Given the description of an element on the screen output the (x, y) to click on. 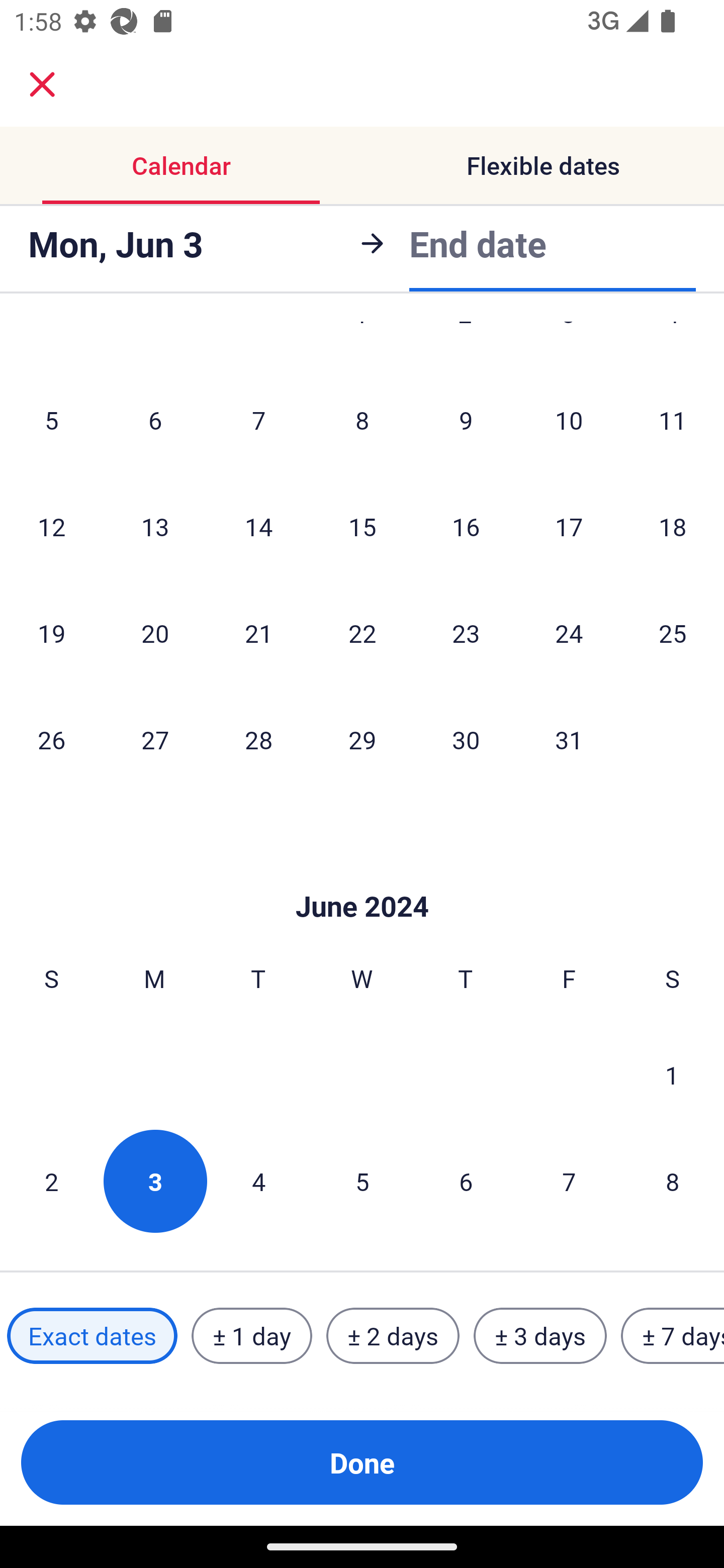
close. (42, 84)
Flexible dates (542, 164)
End date (477, 240)
5 Sunday, May 5, 2024 (51, 419)
6 Monday, May 6, 2024 (155, 419)
7 Tuesday, May 7, 2024 (258, 419)
8 Wednesday, May 8, 2024 (362, 419)
9 Thursday, May 9, 2024 (465, 419)
10 Friday, May 10, 2024 (569, 419)
11 Saturday, May 11, 2024 (672, 419)
12 Sunday, May 12, 2024 (51, 526)
13 Monday, May 13, 2024 (155, 526)
14 Tuesday, May 14, 2024 (258, 526)
15 Wednesday, May 15, 2024 (362, 526)
16 Thursday, May 16, 2024 (465, 526)
17 Friday, May 17, 2024 (569, 526)
18 Saturday, May 18, 2024 (672, 526)
19 Sunday, May 19, 2024 (51, 633)
20 Monday, May 20, 2024 (155, 633)
21 Tuesday, May 21, 2024 (258, 633)
22 Wednesday, May 22, 2024 (362, 633)
23 Thursday, May 23, 2024 (465, 633)
24 Friday, May 24, 2024 (569, 633)
25 Saturday, May 25, 2024 (672, 633)
26 Sunday, May 26, 2024 (51, 739)
27 Monday, May 27, 2024 (155, 739)
28 Tuesday, May 28, 2024 (258, 739)
29 Wednesday, May 29, 2024 (362, 739)
30 Thursday, May 30, 2024 (465, 739)
31 Friday, May 31, 2024 (569, 739)
Skip to Done (362, 876)
1 Saturday, June 1, 2024 (672, 1074)
2 Sunday, June 2, 2024 (51, 1181)
4 Tuesday, June 4, 2024 (258, 1181)
5 Wednesday, June 5, 2024 (362, 1181)
6 Thursday, June 6, 2024 (465, 1181)
7 Friday, June 7, 2024 (569, 1181)
8 Saturday, June 8, 2024 (672, 1181)
Exact dates (92, 1335)
± 1 day (251, 1335)
± 2 days (392, 1335)
± 3 days (539, 1335)
± 7 days (672, 1335)
Done (361, 1462)
